Given the description of an element on the screen output the (x, y) to click on. 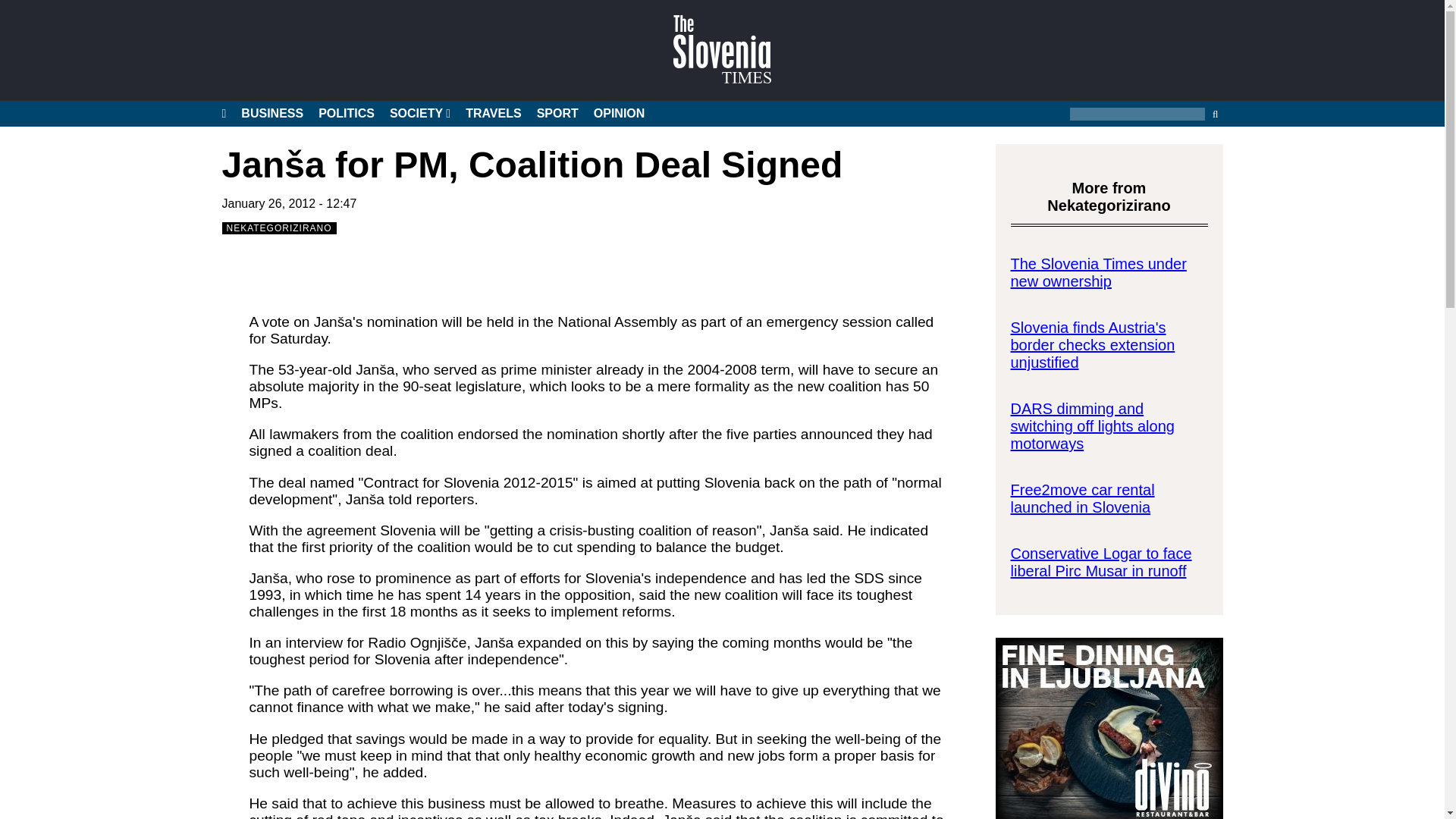
Free2move car rental launched in Slovenia (1082, 498)
DARS dimming and switching off lights along motorways (1091, 426)
Slovenia finds Austria's border checks extension unjustified (1092, 345)
OPINION (619, 113)
SPORT (557, 113)
BUSINESS (271, 113)
Conservative Logar to face liberal Pirc Musar in runoff (1100, 562)
POLITICS (346, 113)
TRAVELS (493, 113)
The Slovenia Times under new ownership (1098, 272)
